Given the description of an element on the screen output the (x, y) to click on. 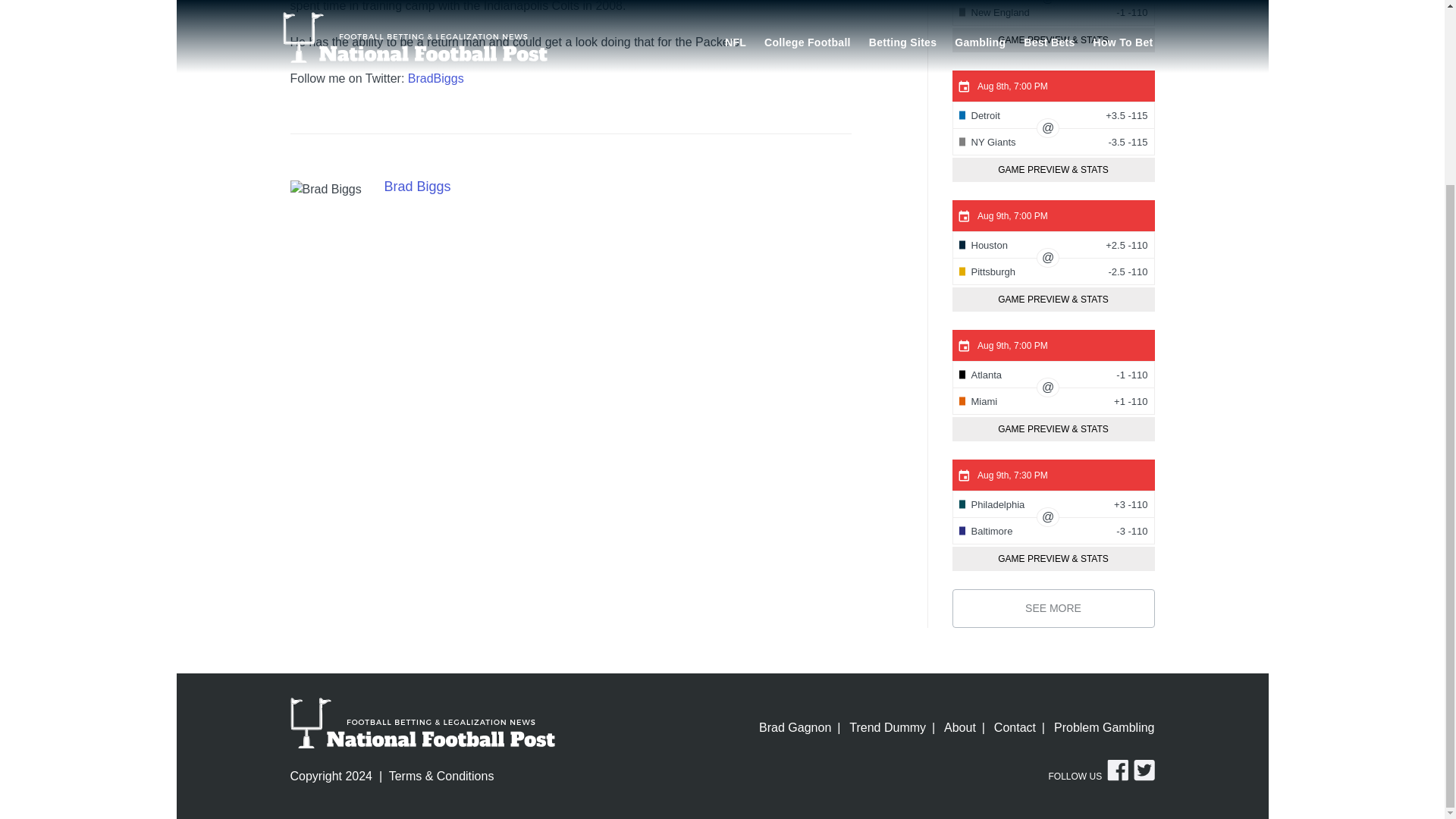
Brad Biggs (325, 189)
BradBiggs (435, 78)
Trend Dummy (887, 727)
Brad Gagnon (799, 727)
Brad Biggs (416, 186)
SEE MORE (1053, 608)
Brad Gagnon (799, 727)
